Given the description of an element on the screen output the (x, y) to click on. 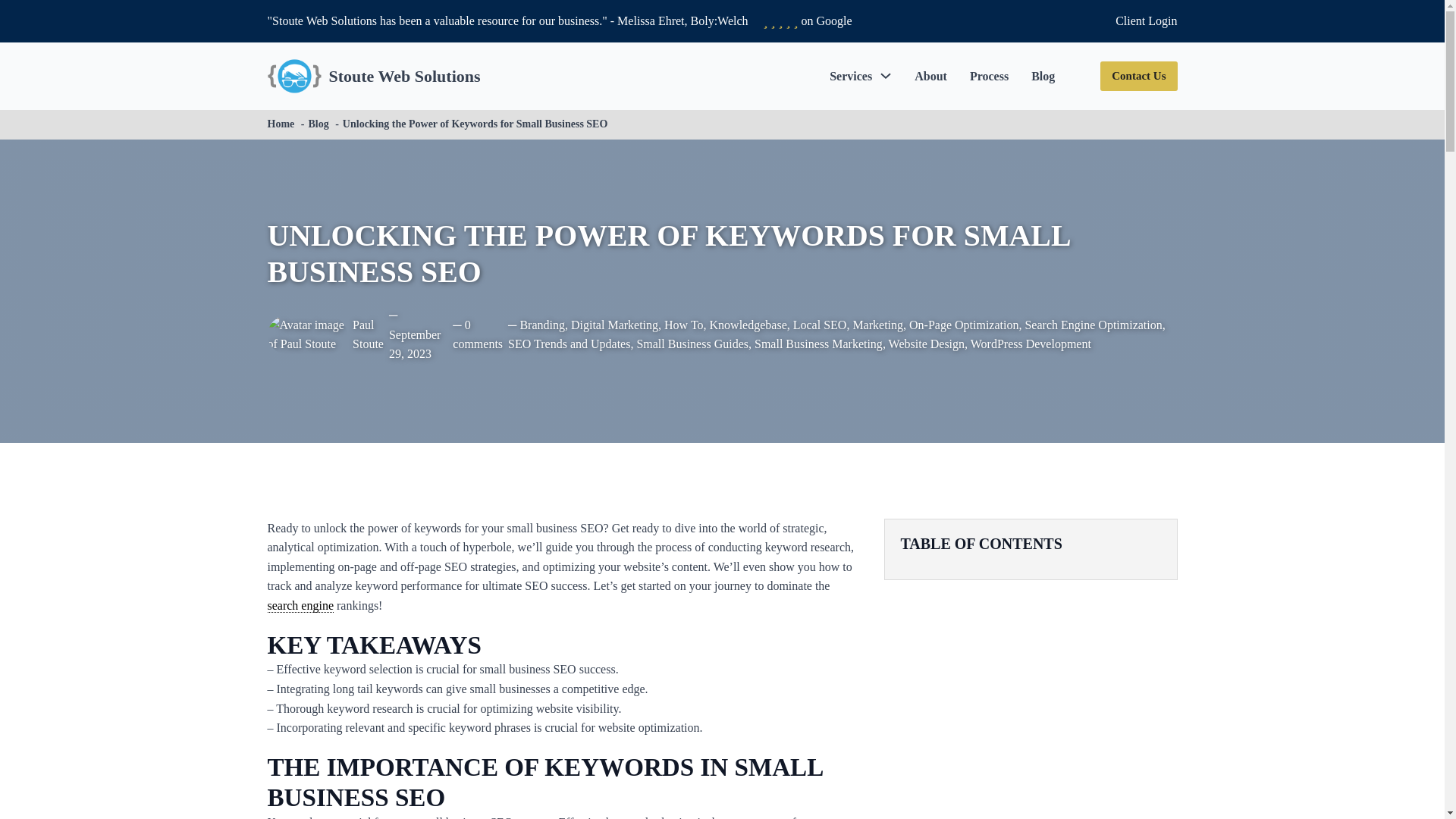
Marketing (876, 324)
On-Page Optimization (962, 324)
Blog (318, 123)
Small Business Marketing (818, 343)
About (930, 76)
Stoute Web Solutions (404, 76)
off-page SEO (433, 566)
off-page SEO (433, 566)
Branding (541, 324)
Local SEO (820, 324)
